Given the description of an element on the screen output the (x, y) to click on. 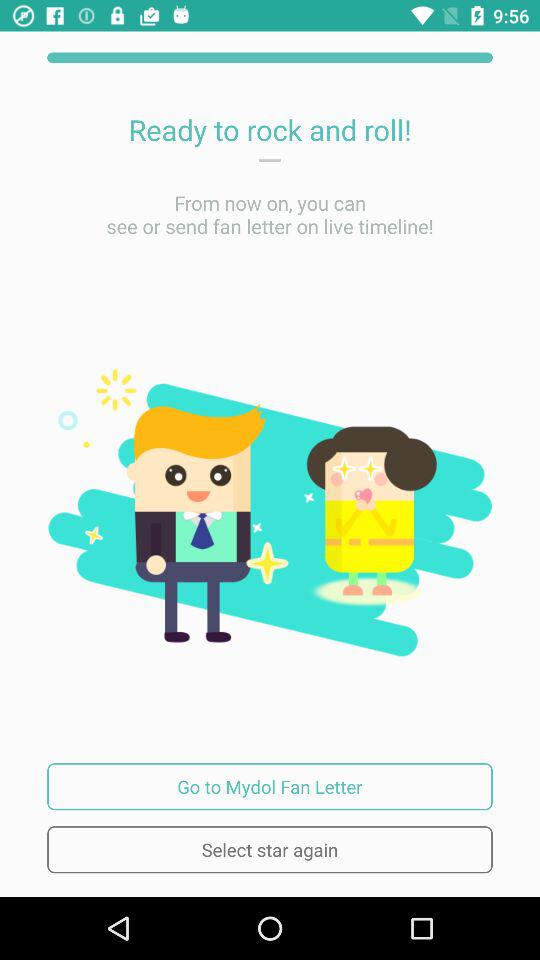
open select star again icon (269, 849)
